Given the description of an element on the screen output the (x, y) to click on. 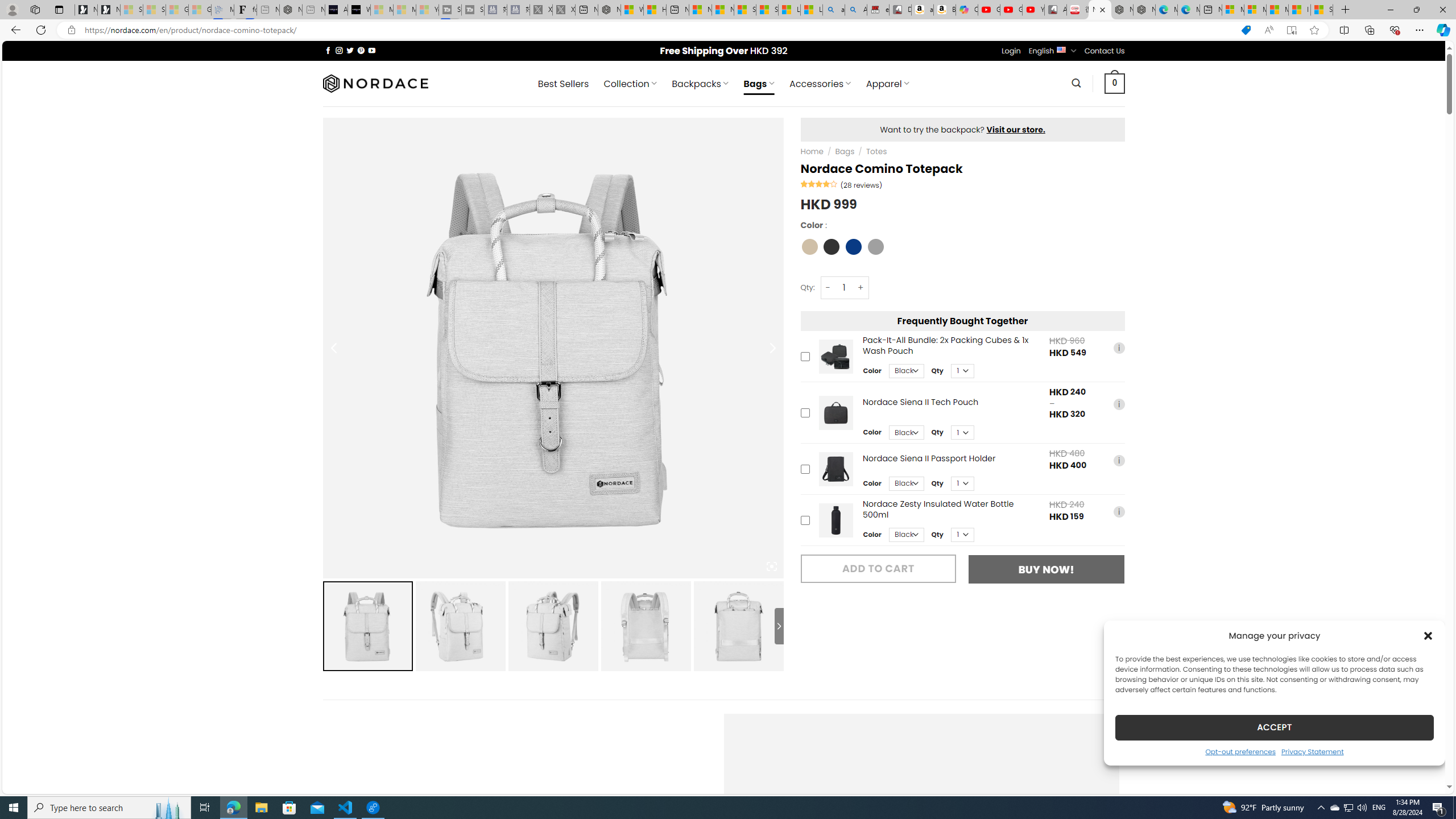
i (1118, 511)
Follow on YouTube (371, 49)
Class: iconic-woothumbs-fullscreen (771, 566)
+ (861, 287)
Copilot (966, 9)
 0  (1115, 83)
Nordace Siena II Passport Holder (835, 468)
Follow on Twitter (349, 49)
